Given the description of an element on the screen output the (x, y) to click on. 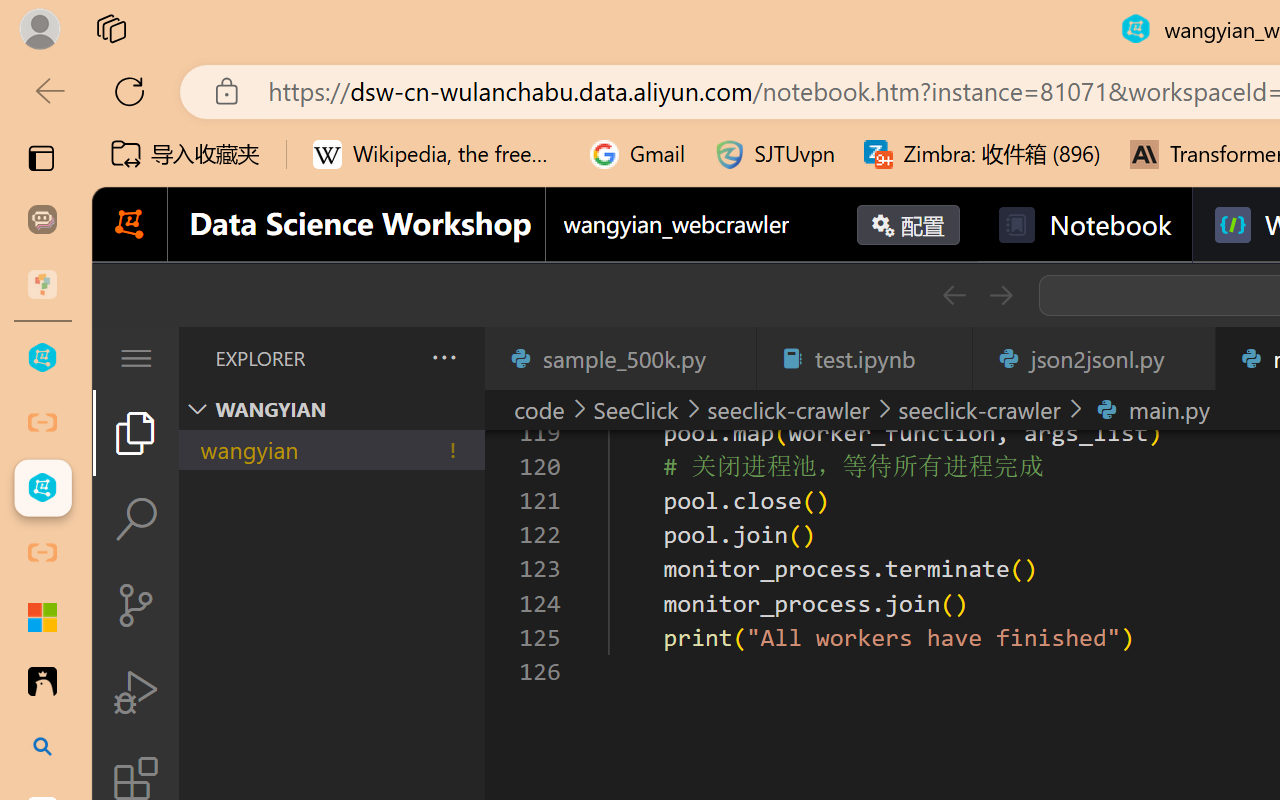
Explorer Section: wangyian (331, 409)
Run and Debug (Ctrl+Shift+D) (135, 692)
Tab actions (1188, 358)
json2jsonl.py (1092, 358)
Notebook (1083, 225)
Adjust indents and spacing - Microsoft Support (42, 617)
Search (Ctrl+Shift+F) (135, 519)
